Given the description of an element on the screen output the (x, y) to click on. 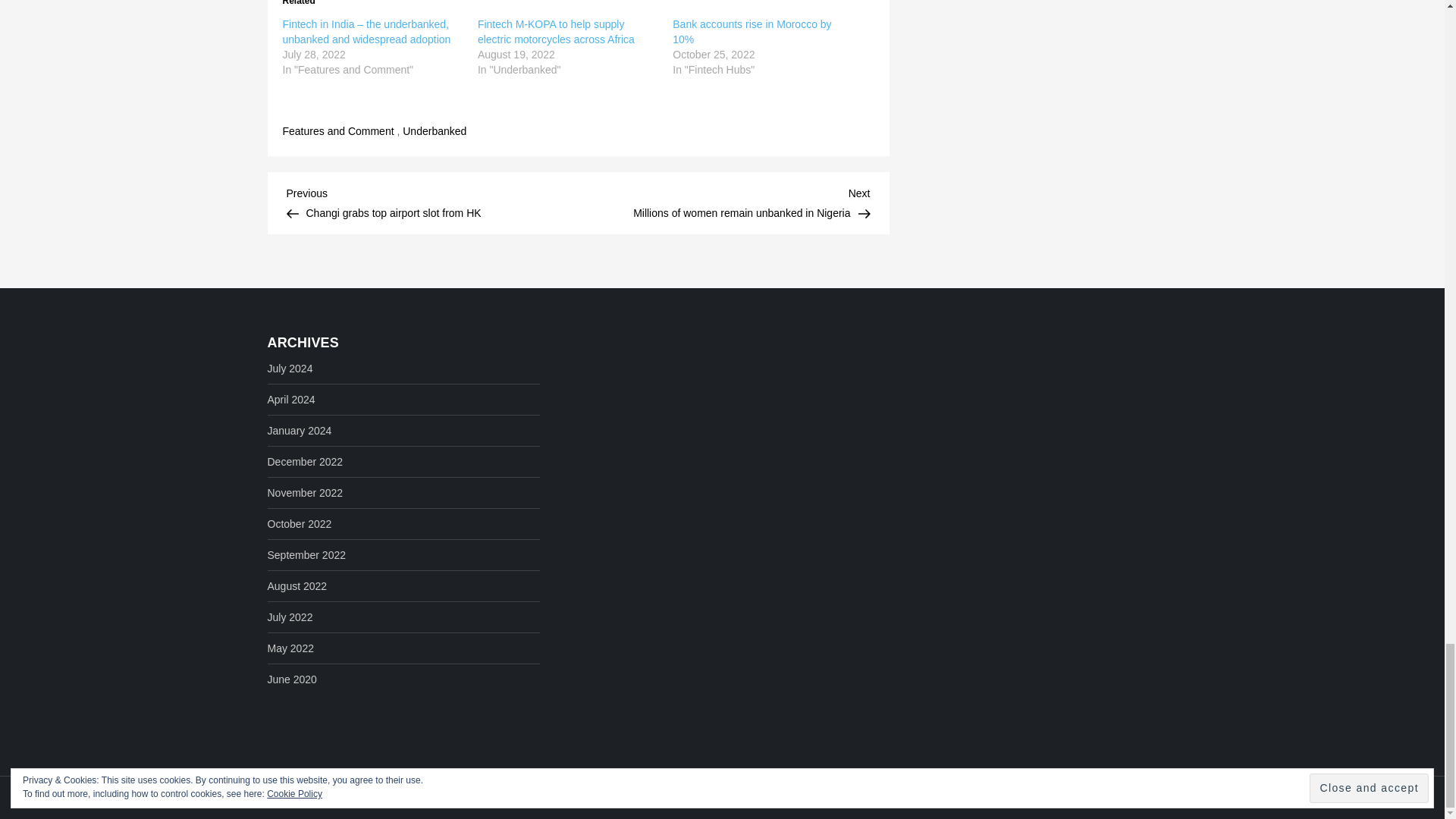
Features and Comment (723, 201)
Underbanked (337, 131)
